Given the description of an element on the screen output the (x, y) to click on. 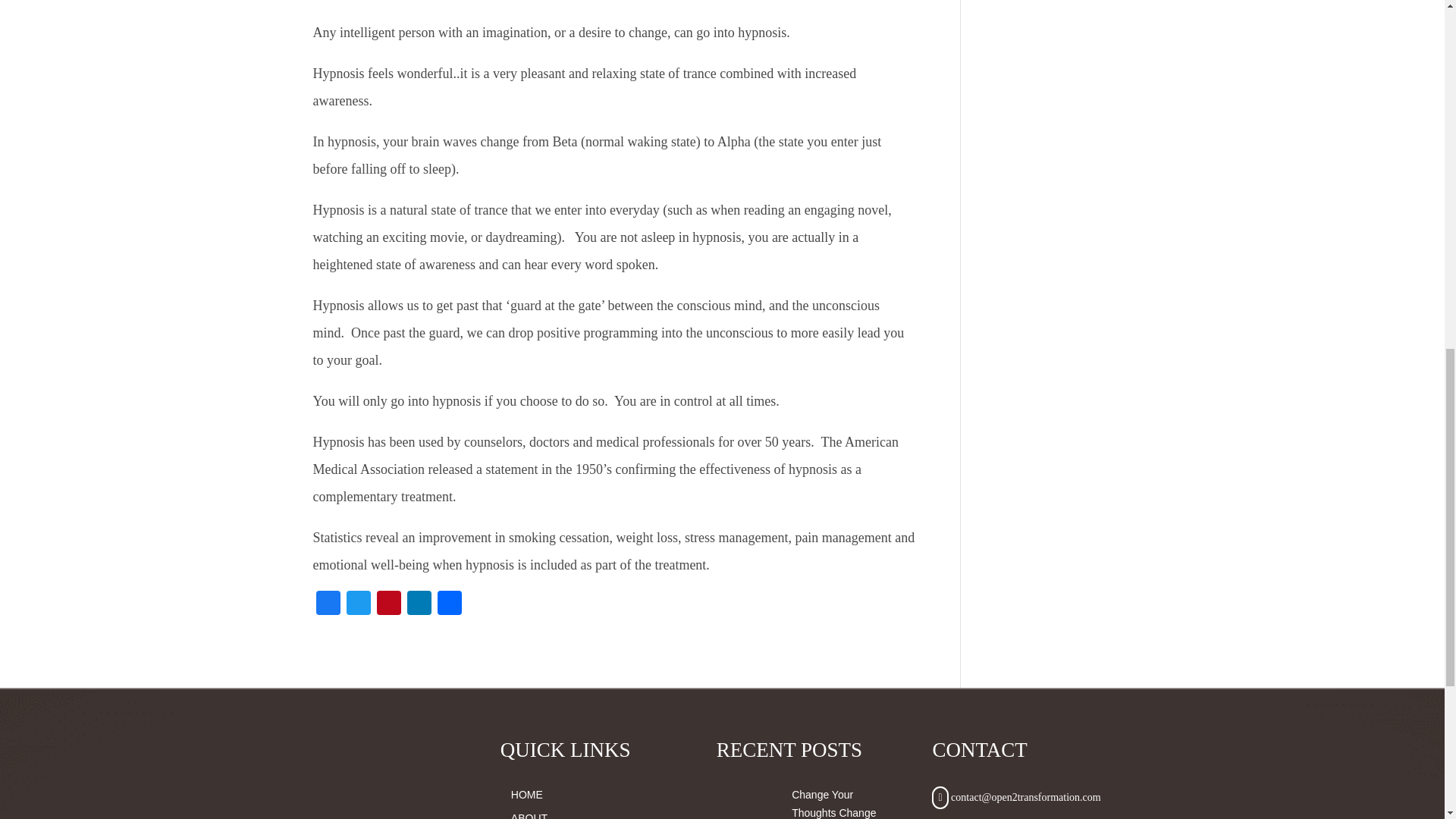
Twitter (357, 604)
Pinterest (387, 604)
Facebook (327, 604)
LinkedIn (418, 604)
